Given the description of an element on the screen output the (x, y) to click on. 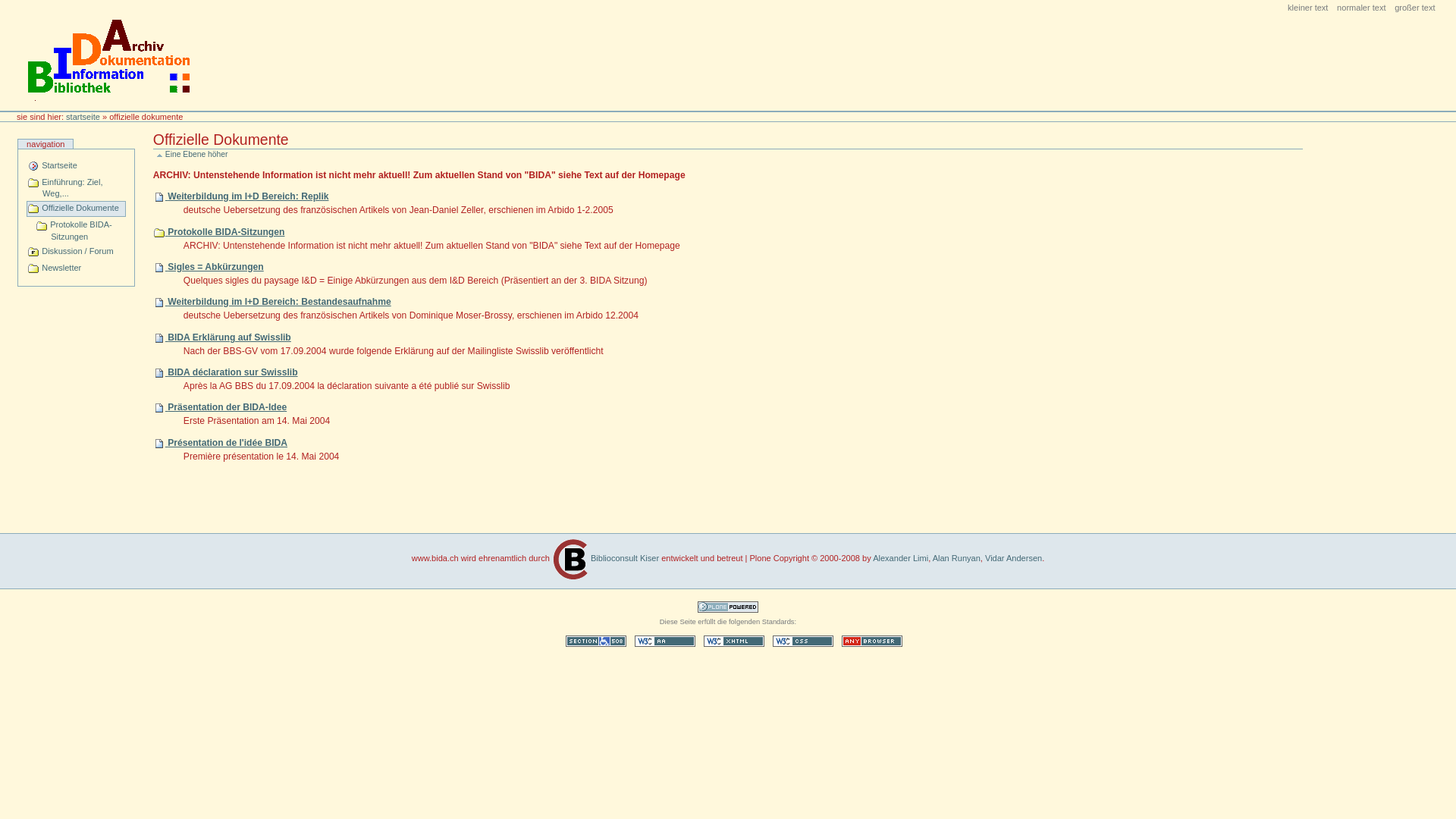
Alan Runyan Element type: text (956, 557)
kleiner text Element type: text (1307, 7)
Diskussion / Forum Element type: text (75, 252)
Diese Plone-Website kann mit jedem Browser benutzt werden. Element type: hover (871, 640)
Folder Element type: hover (33, 208)
Protokolle BIDA-Sitzungen Element type: text (79, 229)
Folder Element type: hover (33, 182)
Newsletter Element type: text (75, 268)
Startseite Element type: text (75, 166)
startseite Element type: text (82, 116)
Biblioconsult Kiser Element type: text (605, 557)
BIDA Element type: text (108, 54)
Alexander Limi Element type: text (900, 557)
Protokolle BIDA-Sitzungen Element type: text (225, 231)
normaler text Element type: text (1361, 7)
Vidar Andersen Element type: text (1013, 557)
Weiterbildung im I+D Bereich: Bestandesaufnahme Element type: text (279, 301)
Offizielle Dokumente Element type: text (75, 208)
Folder Element type: hover (41, 225)
Weiterbildung im I+D Bereich: Replik Element type: text (247, 196)
Folder Element type: hover (33, 268)
Link zu Biblioconsult Kiser Element type: hover (570, 559)
Plone Site Element type: hover (33, 166)
Forum Folder Element type: hover (33, 251)
